Given the description of an element on the screen output the (x, y) to click on. 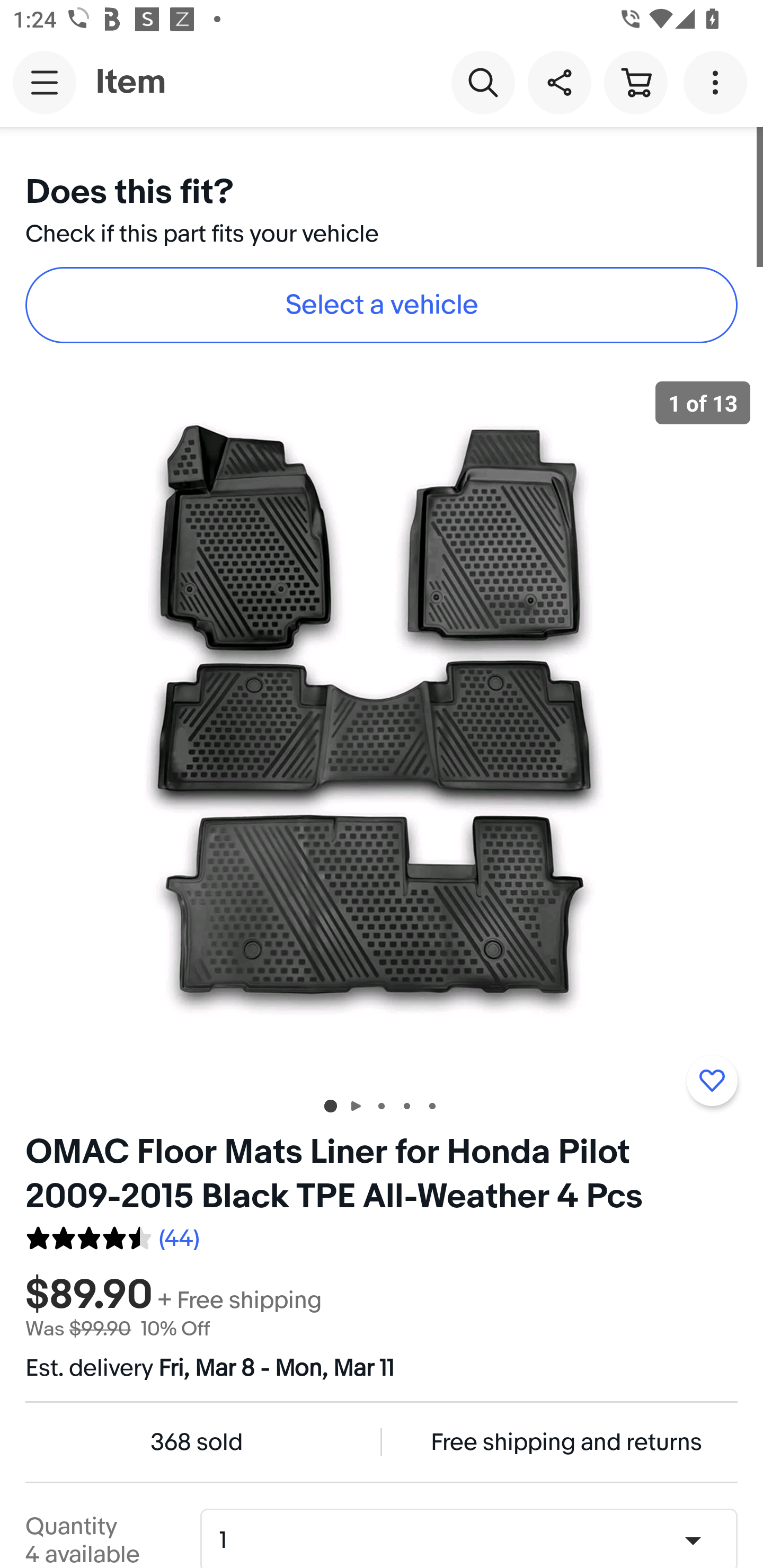
Main navigation, open (44, 82)
Search (482, 81)
Share this item (559, 81)
Cart button shopping cart (635, 81)
More options (718, 81)
Select a vehicle (381, 304)
Item image 1 of 13 (381, 724)
Add to watchlist (711, 1080)
Quantity,1,4 available 1 (474, 1540)
